Given the description of an element on the screen output the (x, y) to click on. 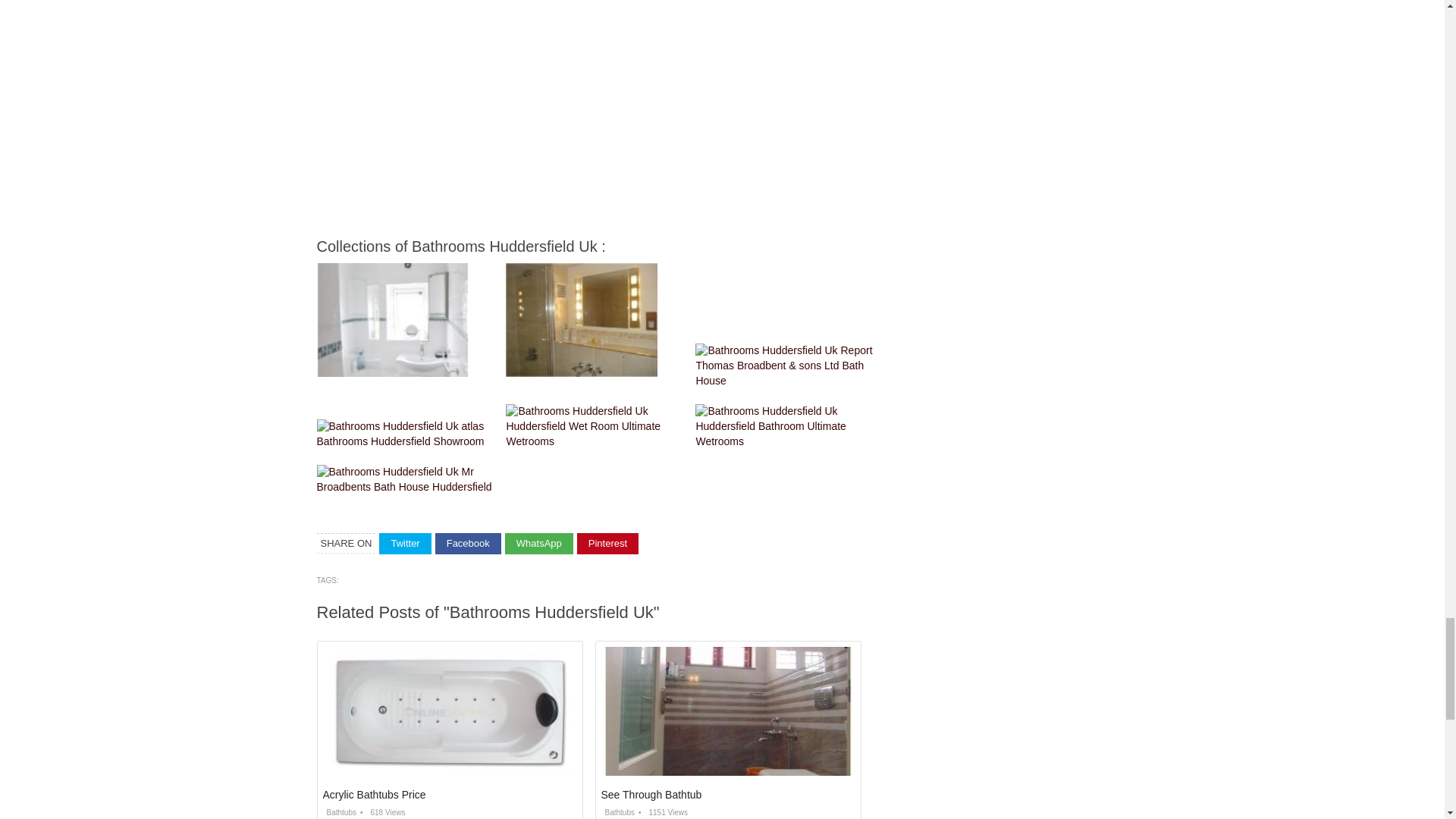
Bathtubs (616, 812)
WhatsApp (539, 544)
Acrylic Bathtubs Price (374, 794)
Twitter (404, 544)
Bathtubs (339, 812)
Bathrooms Huddersfield Uk Pdm Home Projects (392, 319)
Pinterest (607, 544)
Facebook (467, 544)
See Through Bathtub (650, 794)
